Given the description of an element on the screen output the (x, y) to click on. 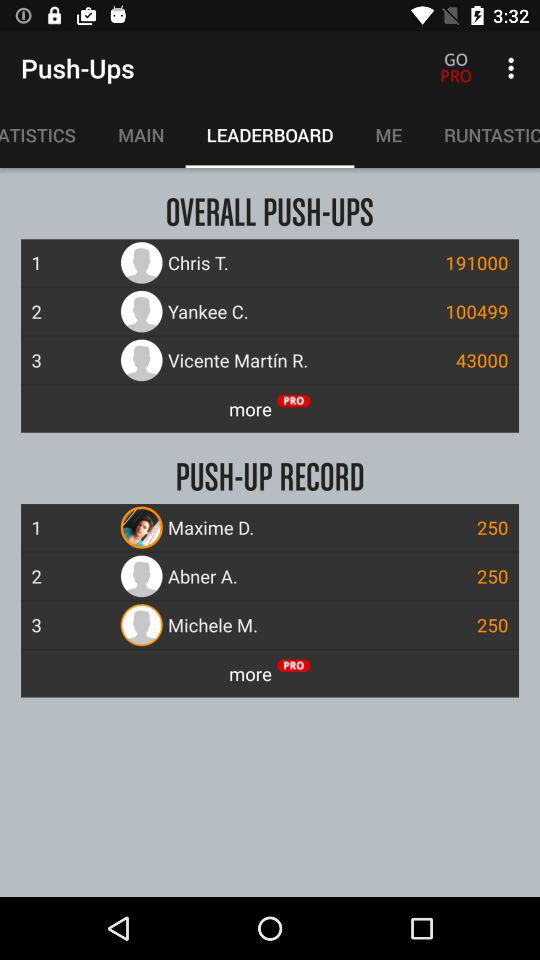
press the icon above overall push-ups icon (388, 135)
